Given the description of an element on the screen output the (x, y) to click on. 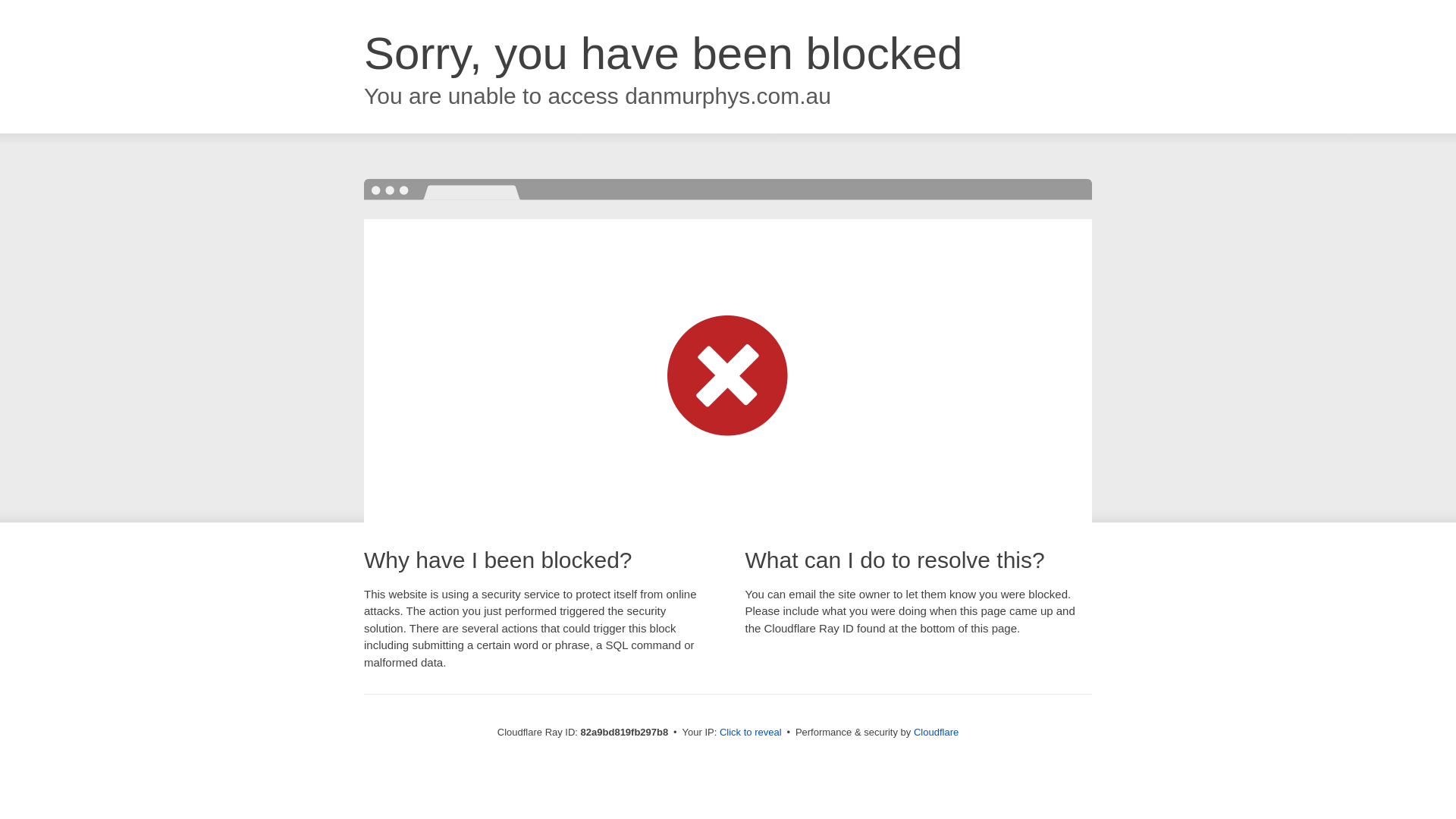
Click to reveal Element type: text (750, 732)
Cloudflare Element type: text (935, 731)
